Given the description of an element on the screen output the (x, y) to click on. 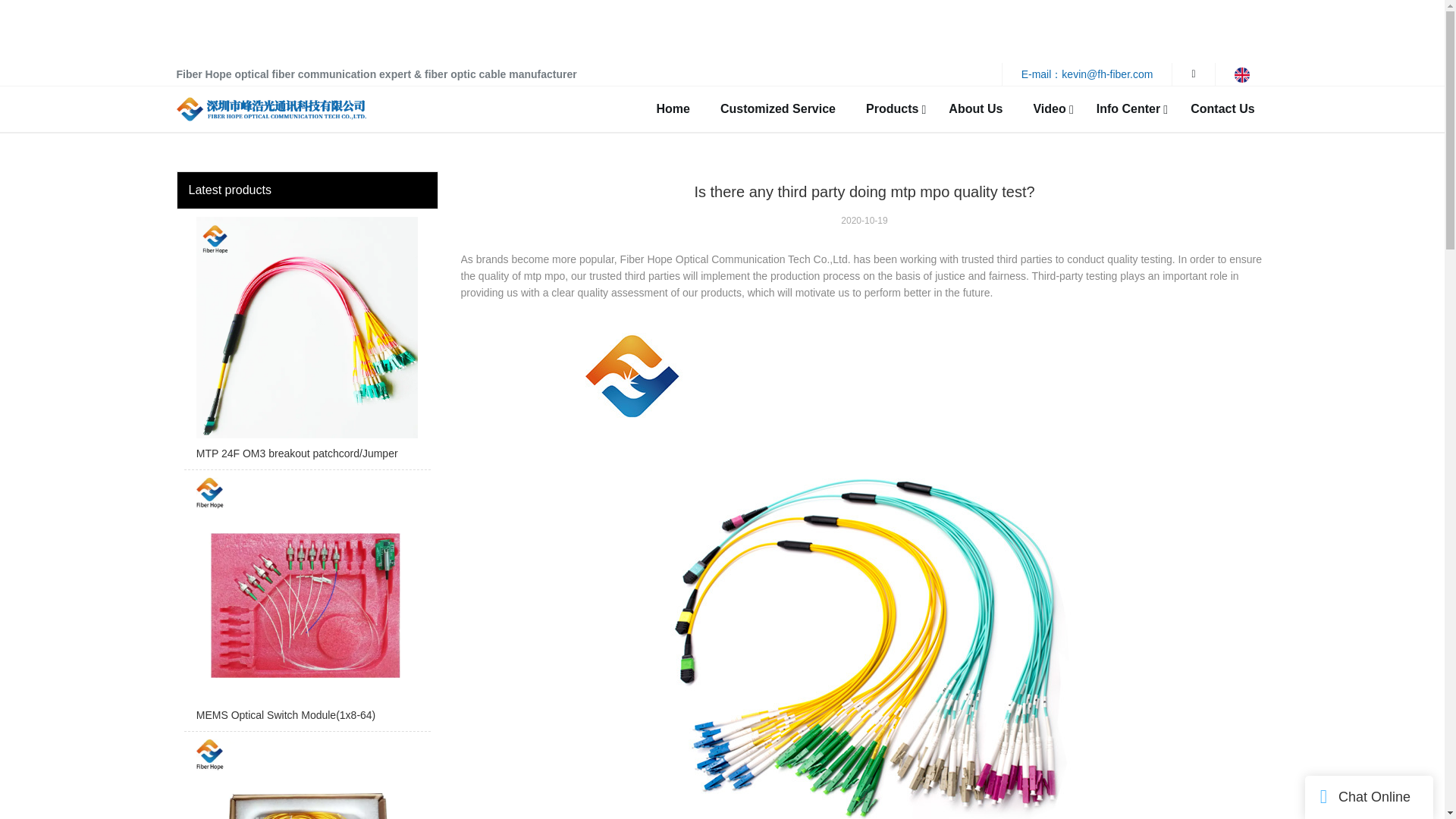
Info Center (1128, 108)
Video (1048, 108)
About Us (976, 108)
Products (892, 108)
Contact Us (1222, 108)
Home (673, 108)
Customized Service (777, 108)
